Given the description of an element on the screen output the (x, y) to click on. 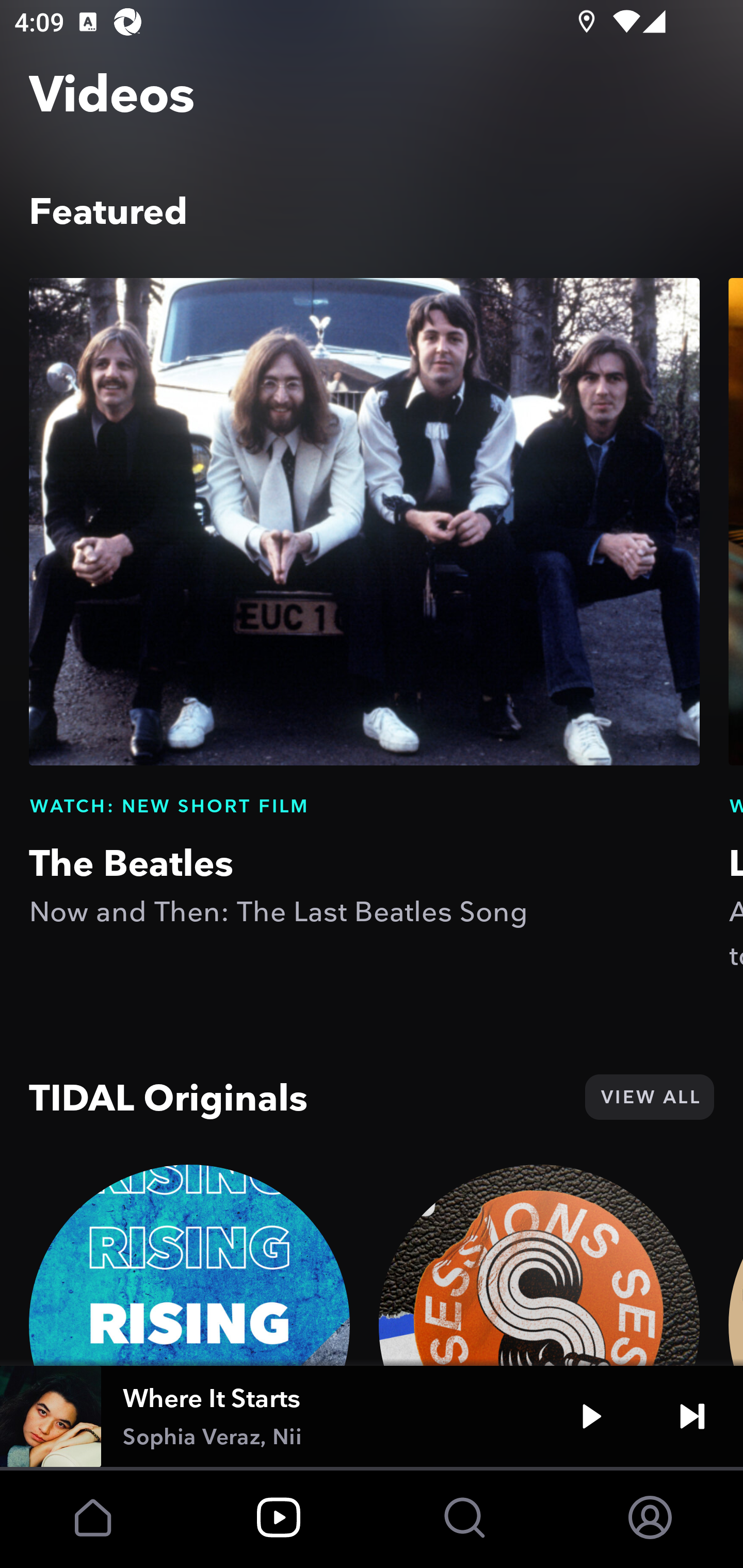
VIEW ALL (649, 1096)
Where It Starts Sophia Veraz, Nii Play (371, 1416)
Play (590, 1416)
